Given the description of an element on the screen output the (x, y) to click on. 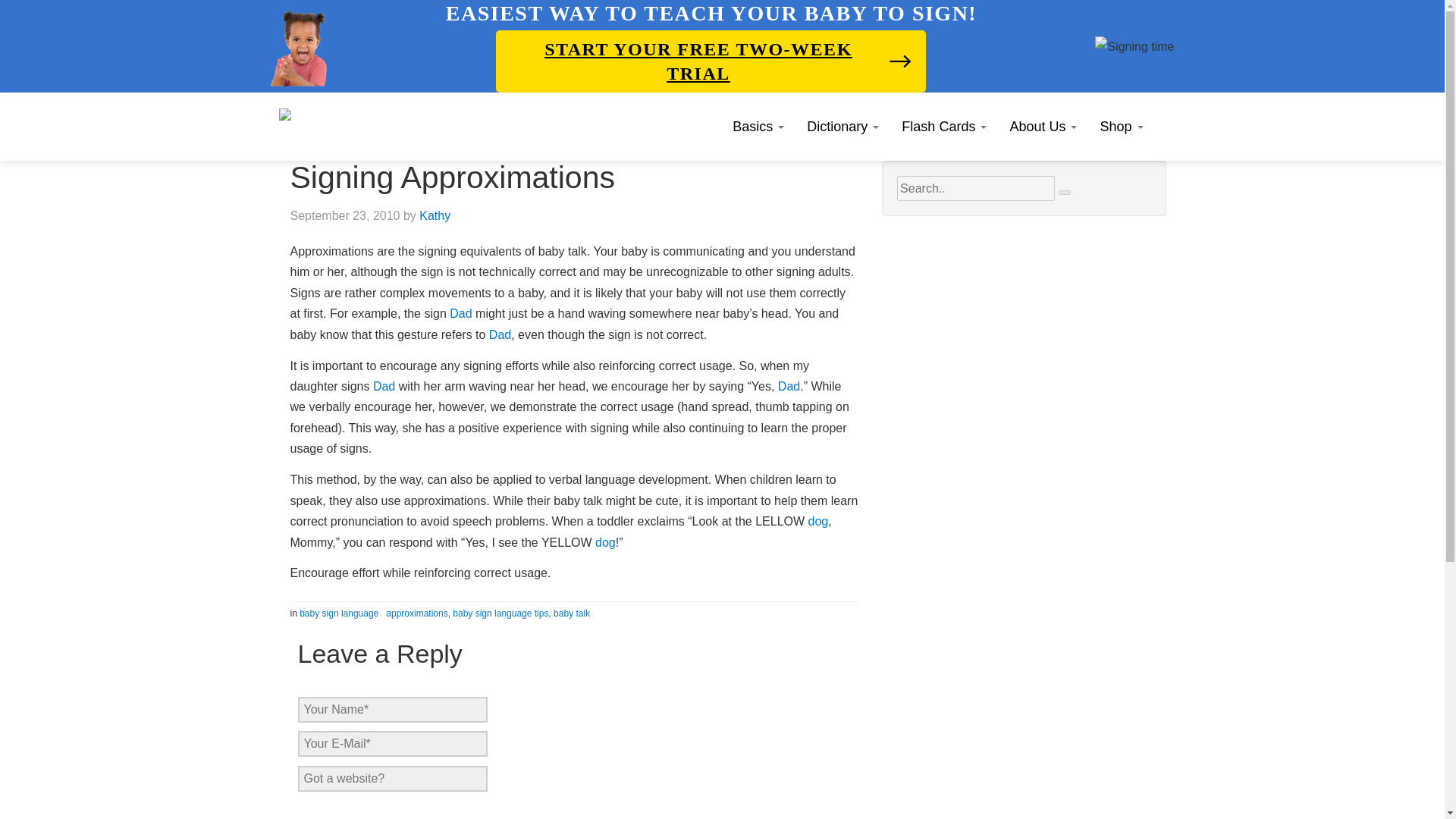
Basics (757, 126)
Dictionary (841, 126)
Flash Cards (943, 126)
Basics (757, 126)
Baby Sign Language (285, 113)
START YOUR FREE TWO-WEEK TRIAL (711, 61)
Dictionary (841, 126)
About Us (1042, 126)
